Given the description of an element on the screen output the (x, y) to click on. 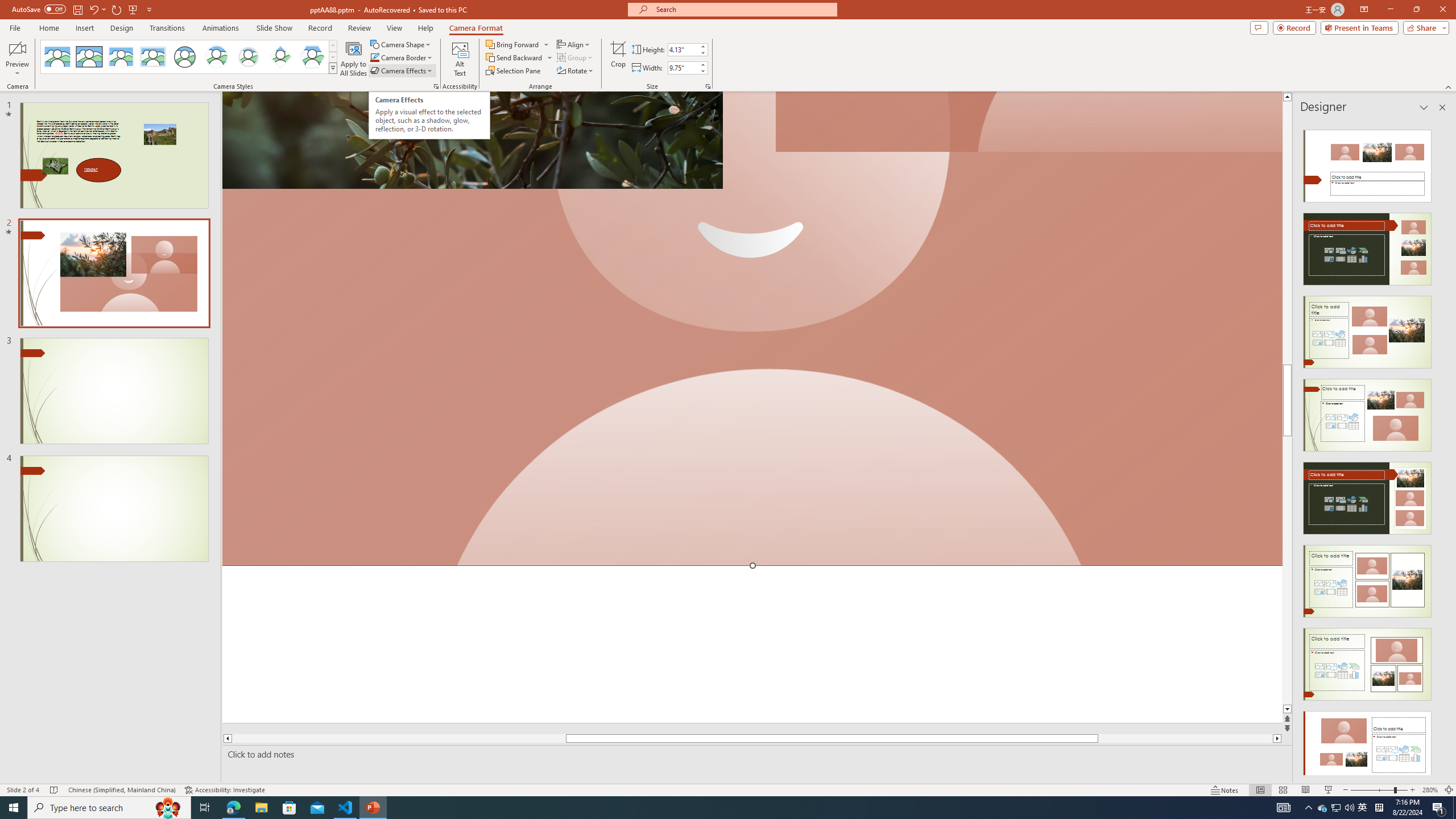
Align (574, 44)
Close up of an olive branch on a sunset (472, 140)
Soft Edge Rectangle (152, 56)
Apply to All Slides (353, 58)
Recommended Design: Design Idea (1366, 162)
Soft Edge Circle (248, 56)
Camera Border (401, 56)
Slide Notes (754, 754)
